Given the description of an element on the screen output the (x, y) to click on. 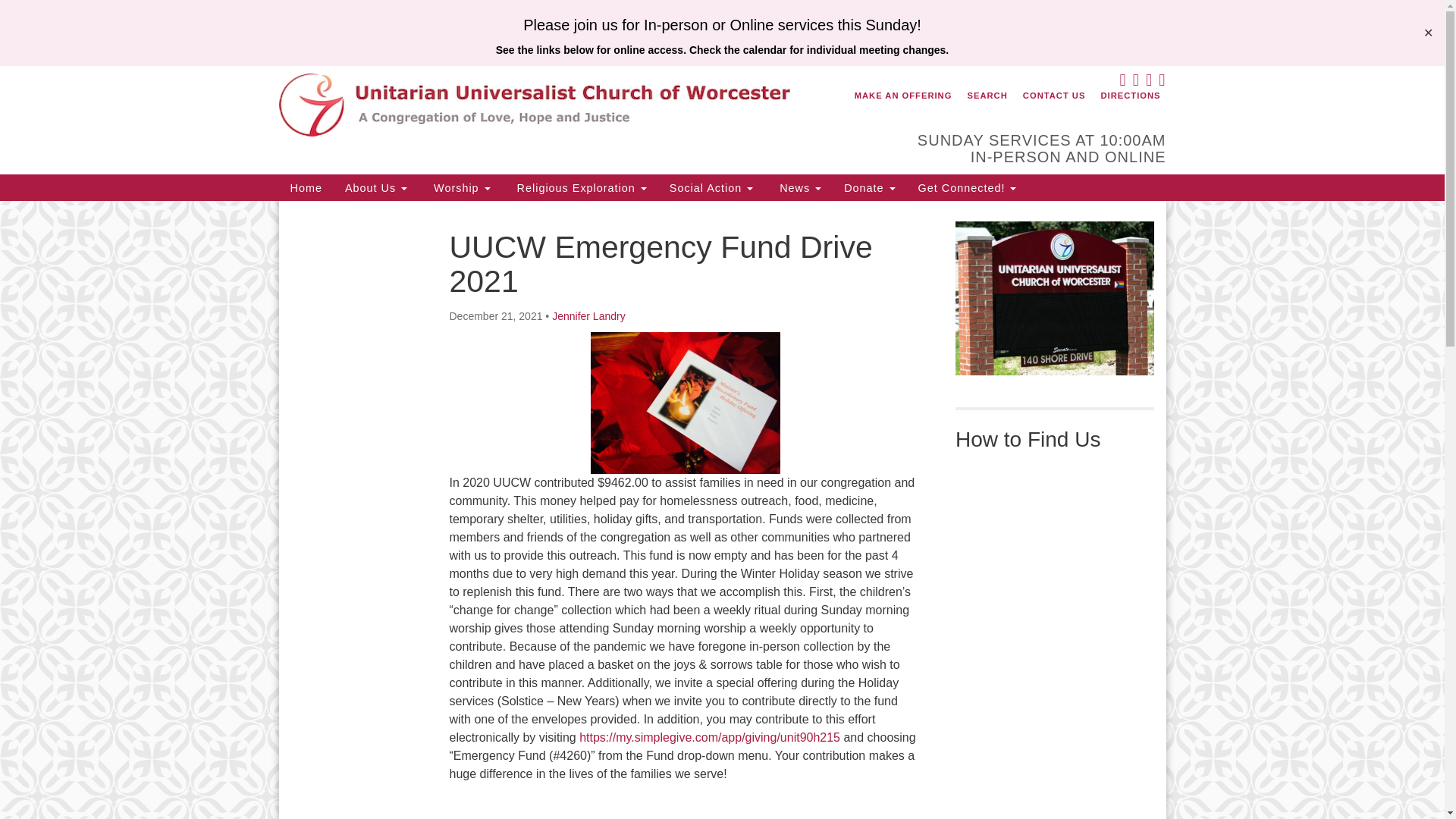
About Us (376, 187)
 Worship (460, 187)
INSTAGRAM (1161, 81)
TWITTER (1134, 81)
DIRECTIONS (1130, 95)
CONTACT US (1053, 95)
 Religious Exploration (580, 187)
Home (306, 187)
About Us (376, 187)
FACEBOOK (1120, 81)
MAKE AN OFFERING (903, 95)
SEARCH (985, 95)
YOUTUBE (1147, 81)
Home (306, 187)
